Given the description of an element on the screen output the (x, y) to click on. 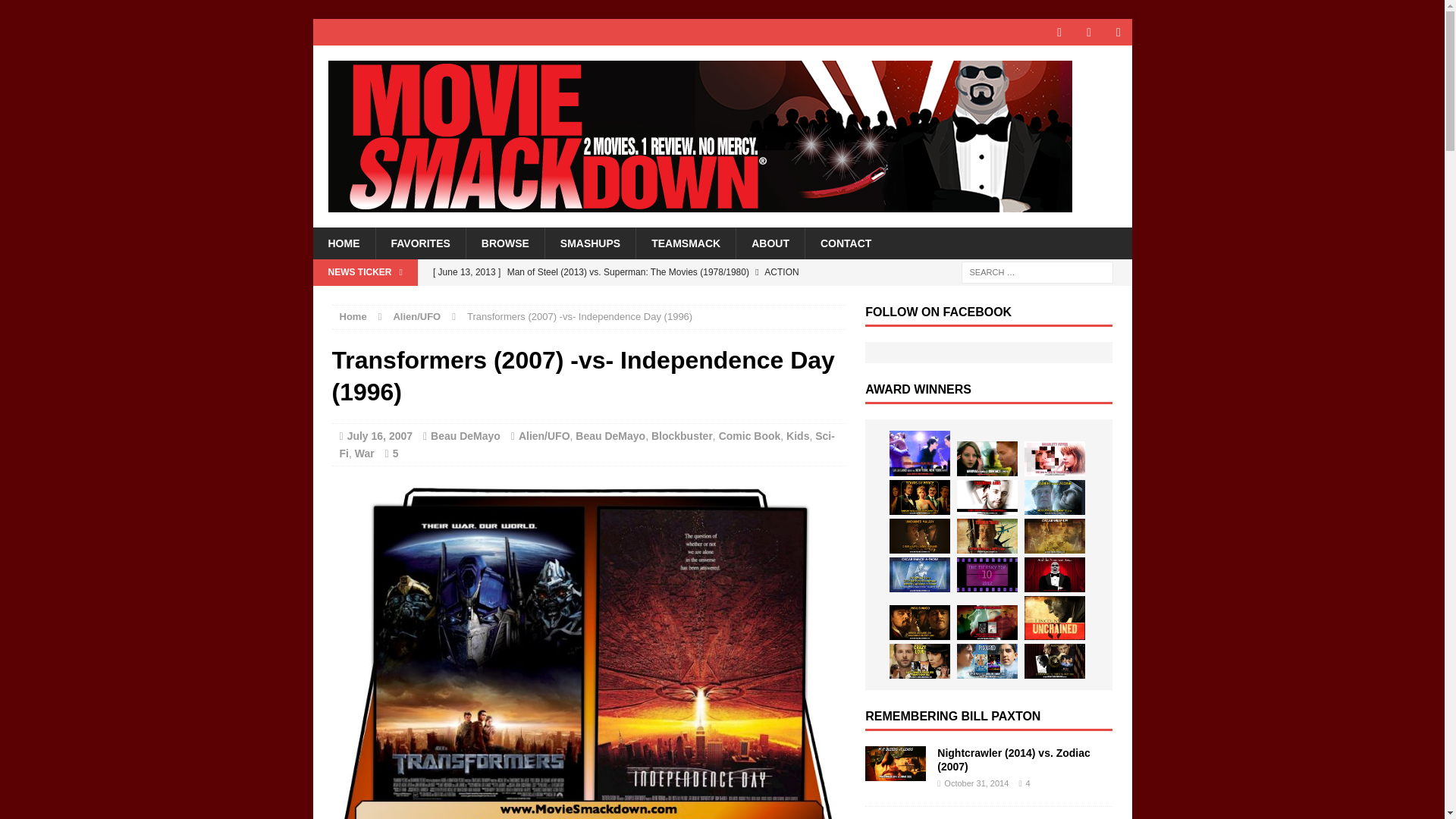
FAVORITES (419, 243)
SMASHUPS (589, 243)
CONTACT (845, 243)
ABOUT (770, 243)
BROWSE (504, 243)
TEAMSMACK (684, 243)
HOME (343, 243)
